Given the description of an element on the screen output the (x, y) to click on. 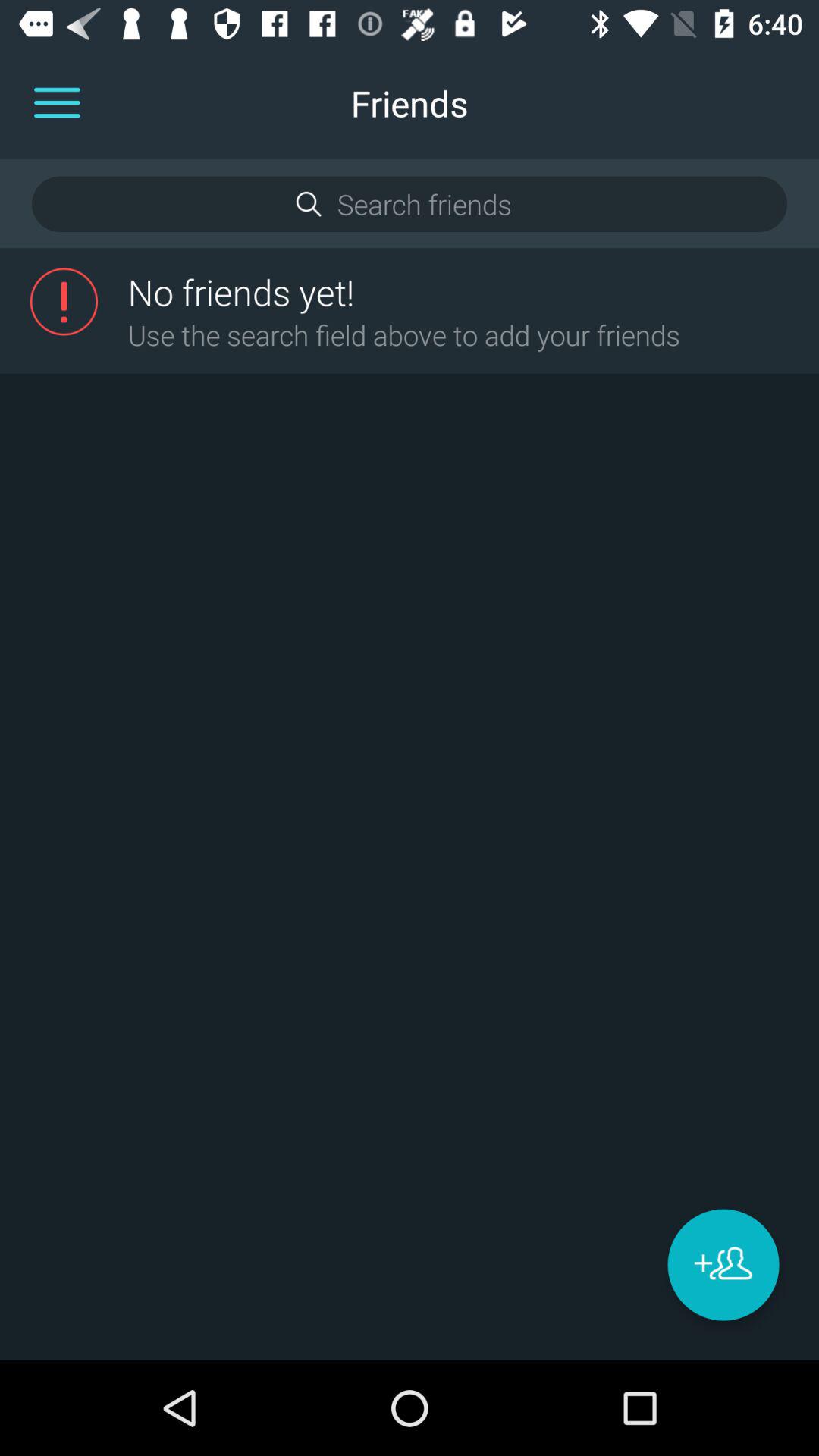
search friends field (409, 204)
